Given the description of an element on the screen output the (x, y) to click on. 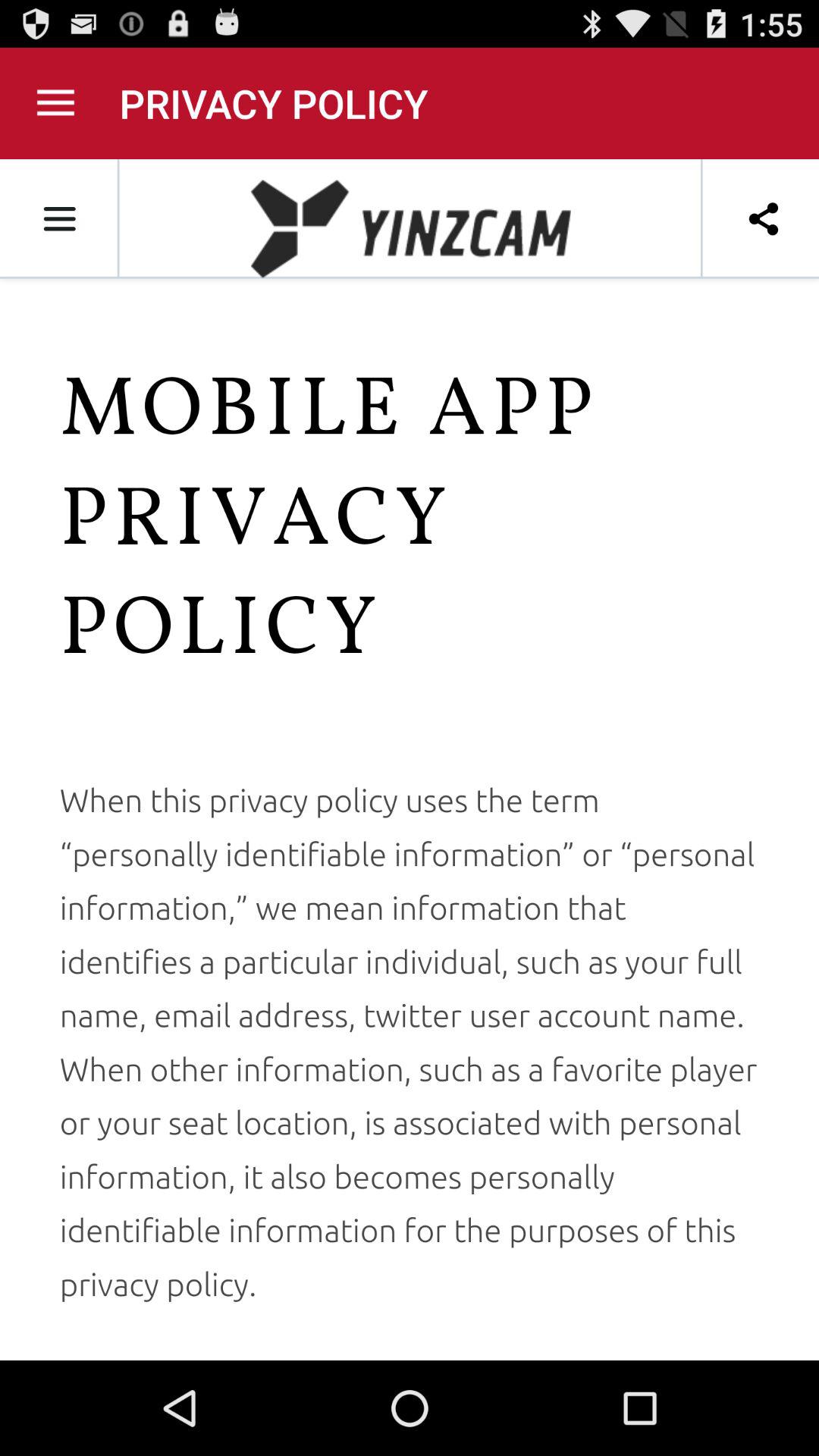
advertisement link (409, 759)
